Given the description of an element on the screen output the (x, y) to click on. 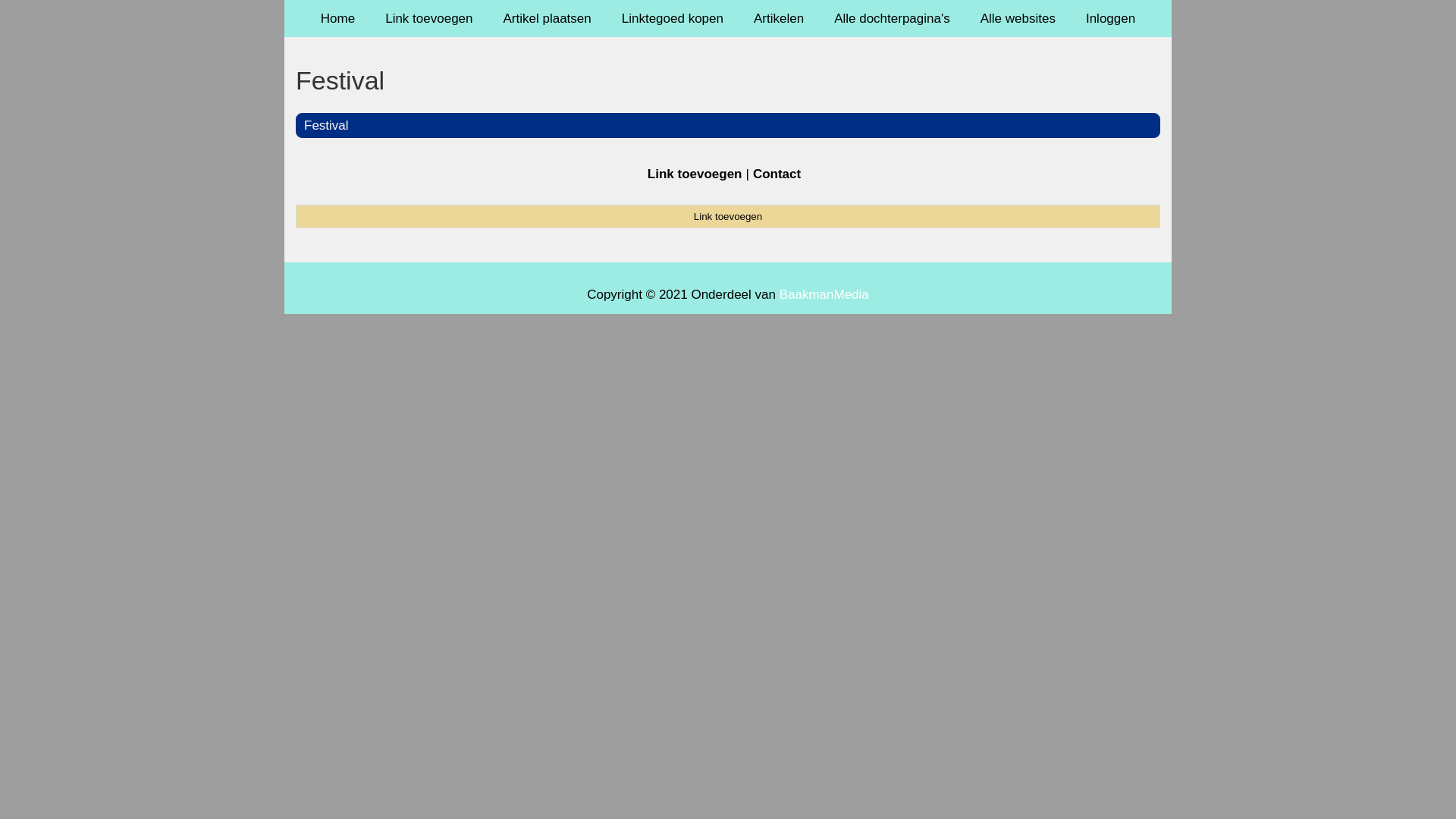
Link toevoegen Element type: text (428, 18)
BaakmanMedia Element type: text (824, 294)
Link toevoegen Element type: text (727, 215)
Link toevoegen Element type: text (694, 173)
Inloggen Element type: text (1110, 18)
Artikel plaatsen Element type: text (547, 18)
Contact Element type: text (776, 173)
Alle websites Element type: text (1017, 18)
Linktegoed kopen Element type: text (672, 18)
Festival Element type: text (326, 125)
Home Element type: text (337, 18)
Alle dochterpagina's Element type: text (892, 18)
Artikelen Element type: text (778, 18)
Festival Element type: text (727, 80)
